Given the description of an element on the screen output the (x, y) to click on. 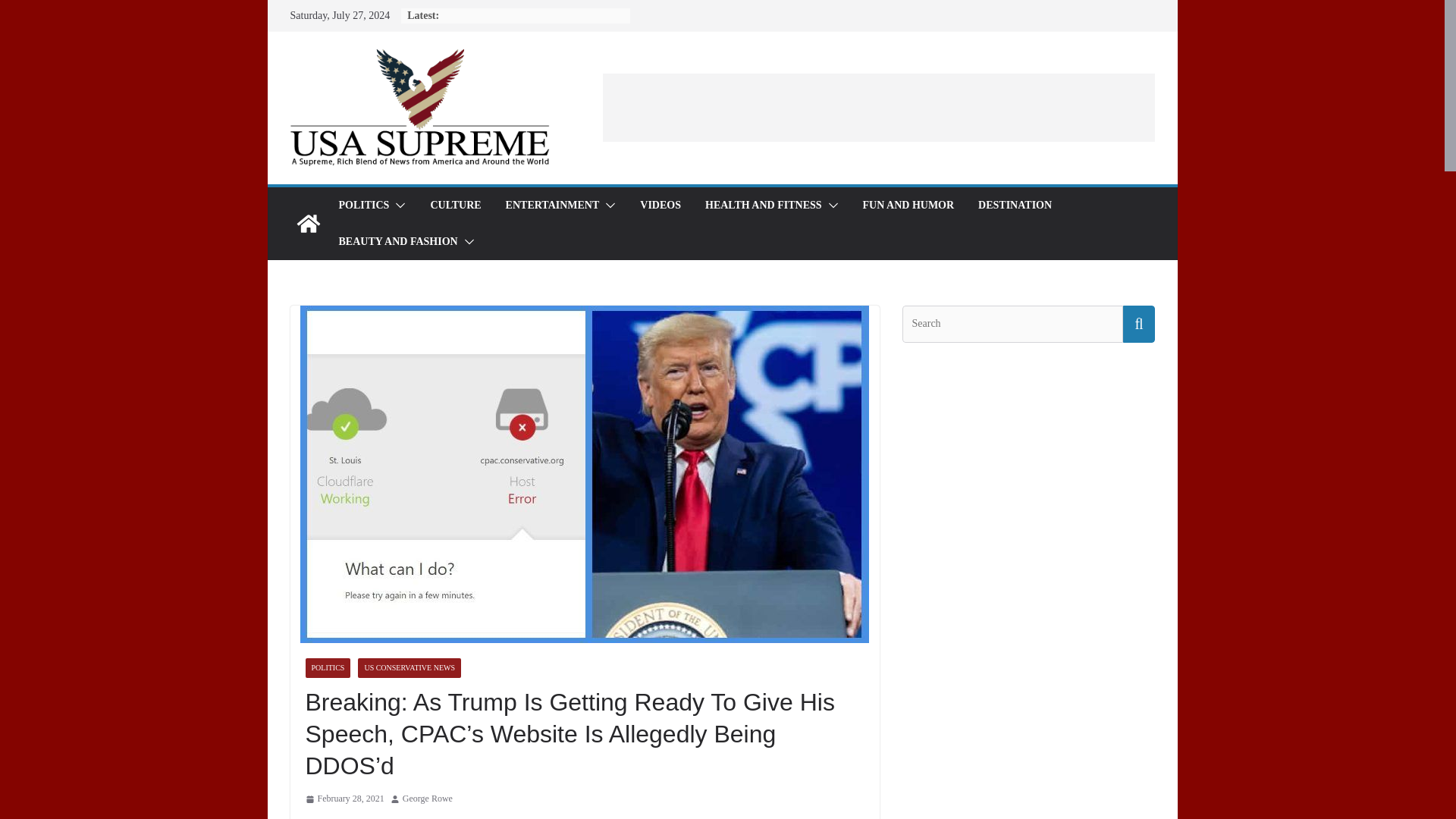
George Rowe (427, 799)
FUN AND HUMOR (909, 205)
ENTERTAINMENT (552, 205)
VIDEOS (660, 205)
DESTINATION (1014, 205)
BEAUTY AND FASHION (397, 241)
POLITICS (327, 668)
US CONSERVATIVE NEWS (409, 668)
3:01 pm (344, 799)
February 28, 2021 (344, 799)
USA SUPREME (307, 223)
CULTURE (454, 205)
POLITICS (362, 205)
George Rowe (427, 799)
HEALTH AND FITNESS (763, 205)
